Given the description of an element on the screen output the (x, y) to click on. 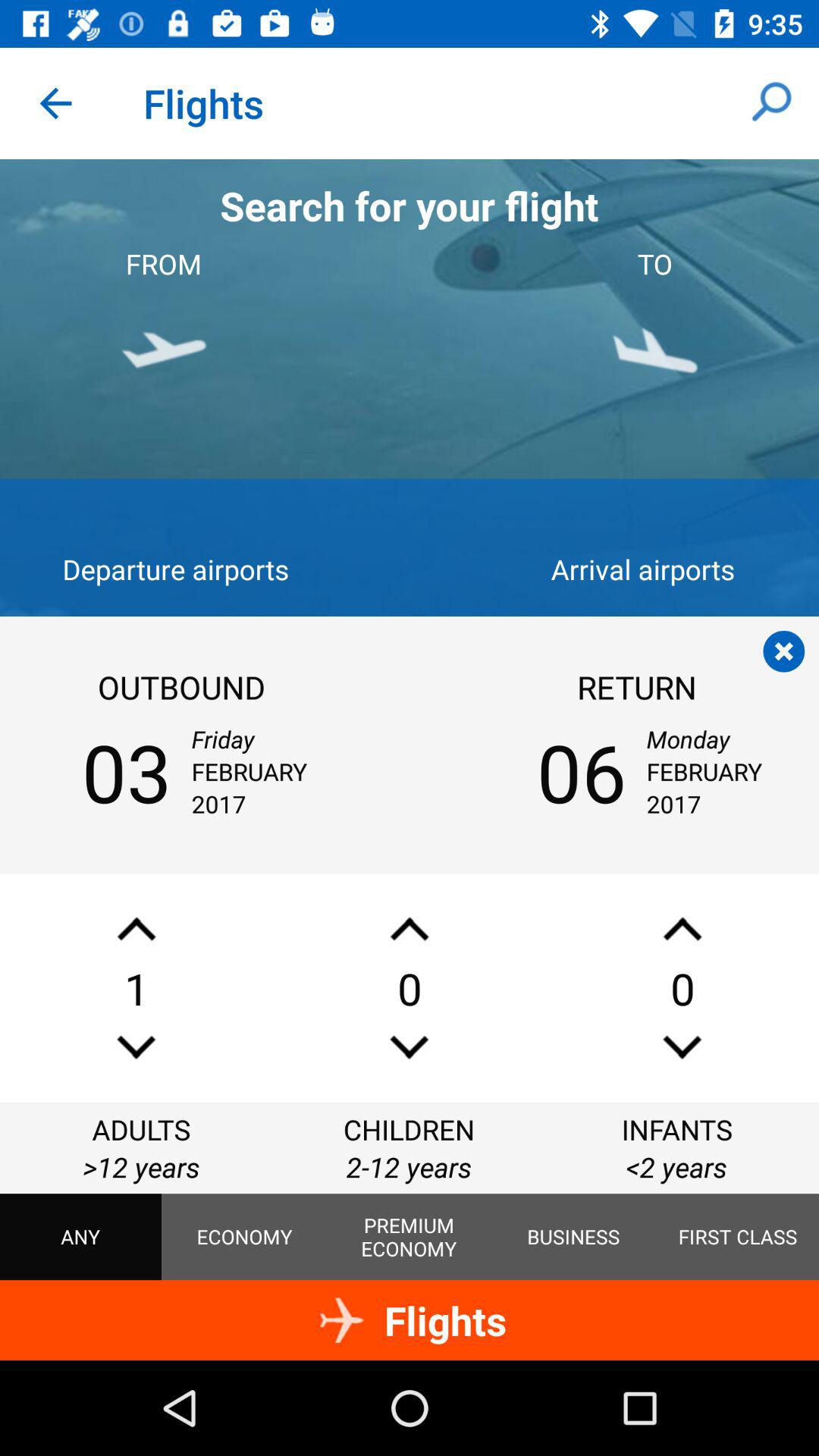
open the icon below the 2-12 years (409, 1236)
